Given the description of an element on the screen output the (x, y) to click on. 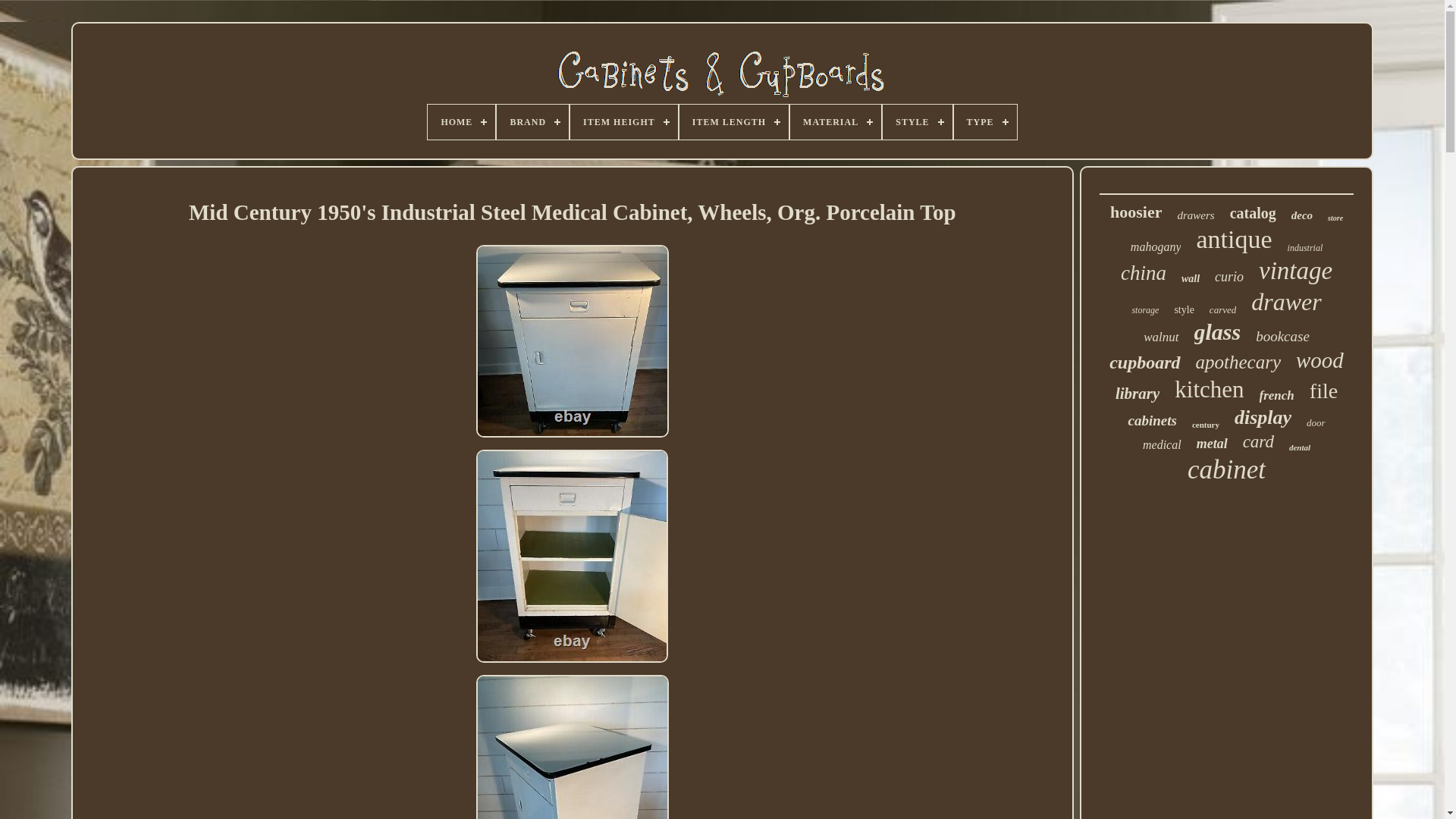
ITEM HEIGHT (624, 121)
BRAND (532, 121)
HOME (461, 121)
